Given the description of an element on the screen output the (x, y) to click on. 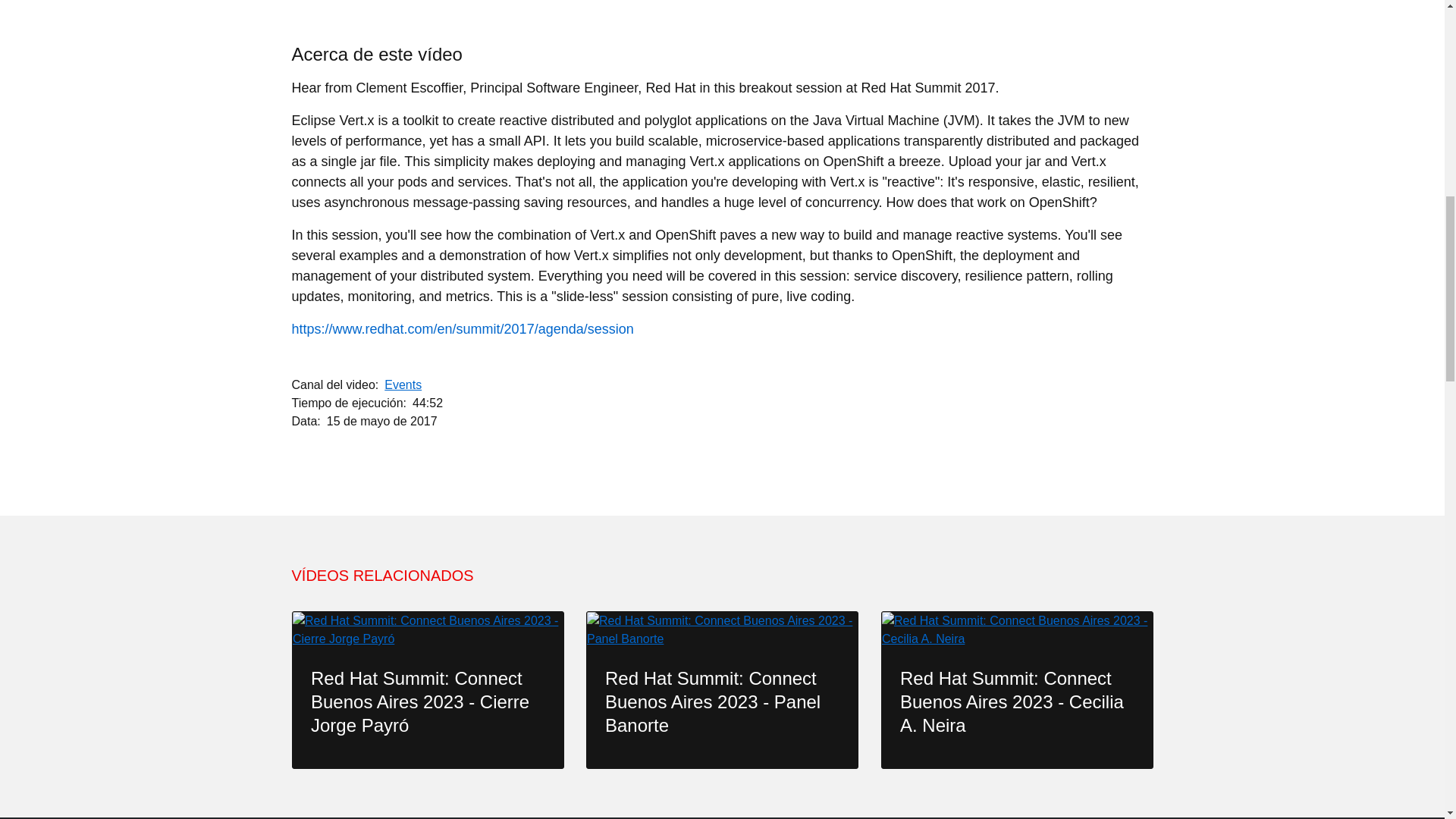
Reactive systems with Eclipse Vert.x and Red Hat OpenShift (722, 4)
